Given the description of an element on the screen output the (x, y) to click on. 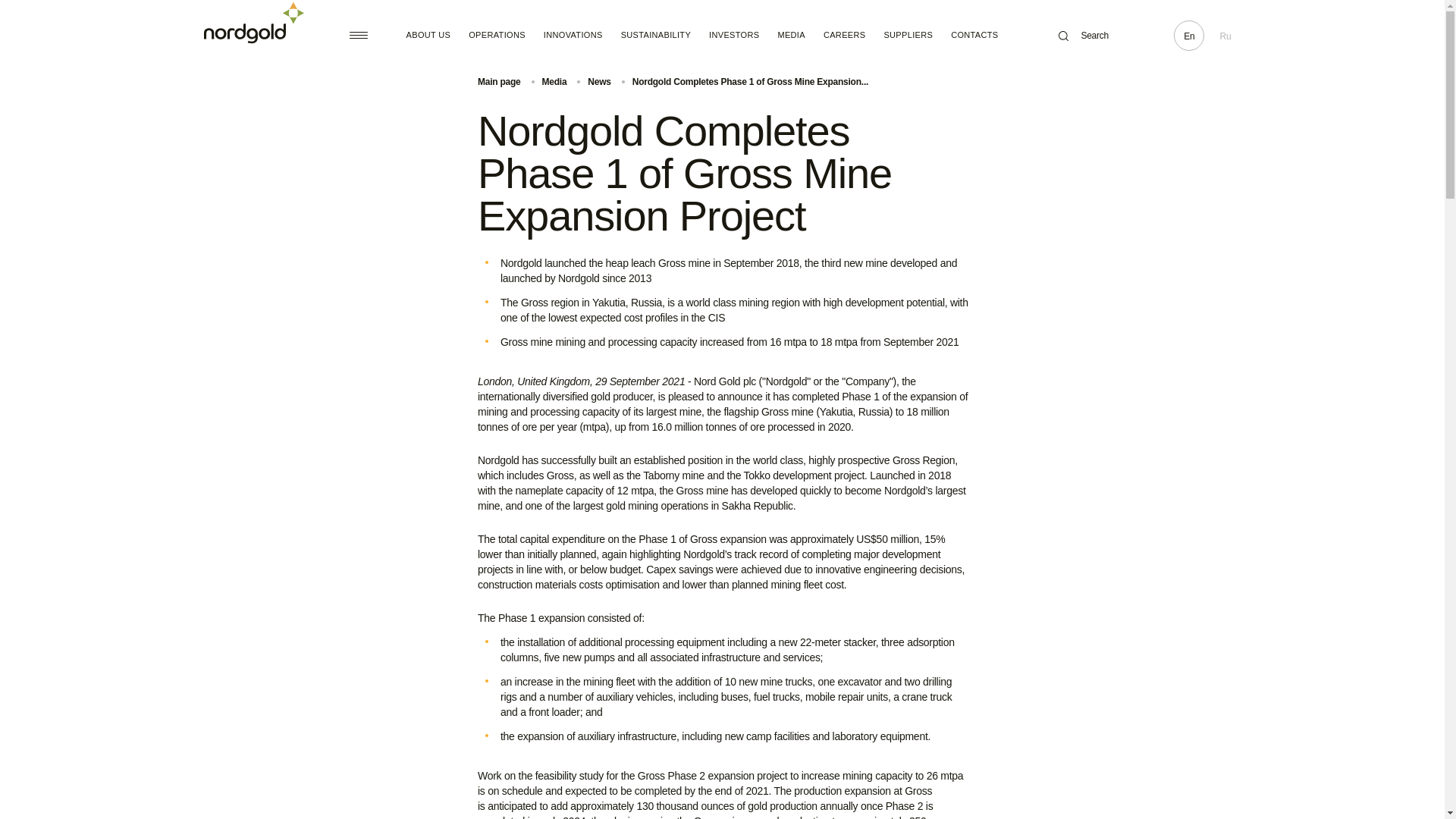
INNOVATIONS (572, 35)
ABOUT US (428, 35)
OPERATIONS (496, 35)
